Given the description of an element on the screen output the (x, y) to click on. 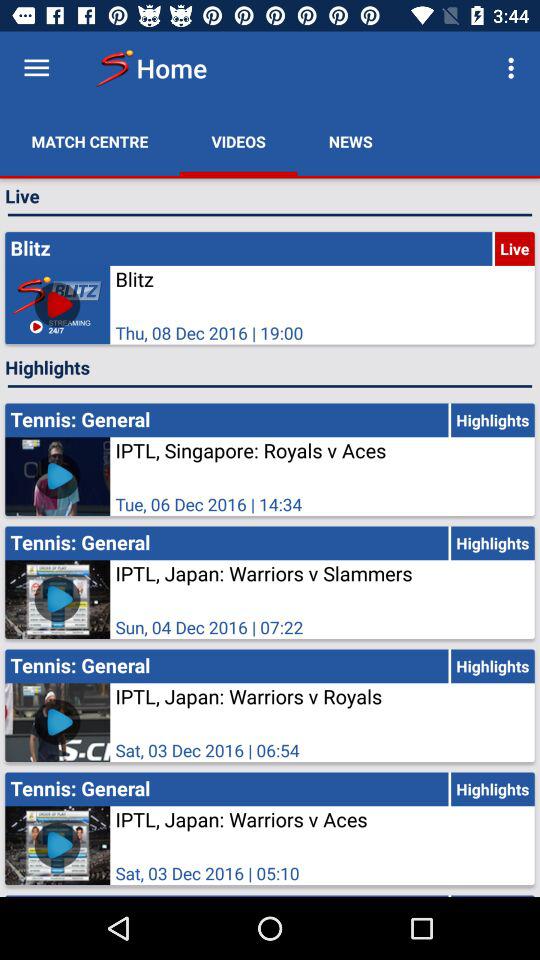
jump until videos (238, 141)
